Given the description of an element on the screen output the (x, y) to click on. 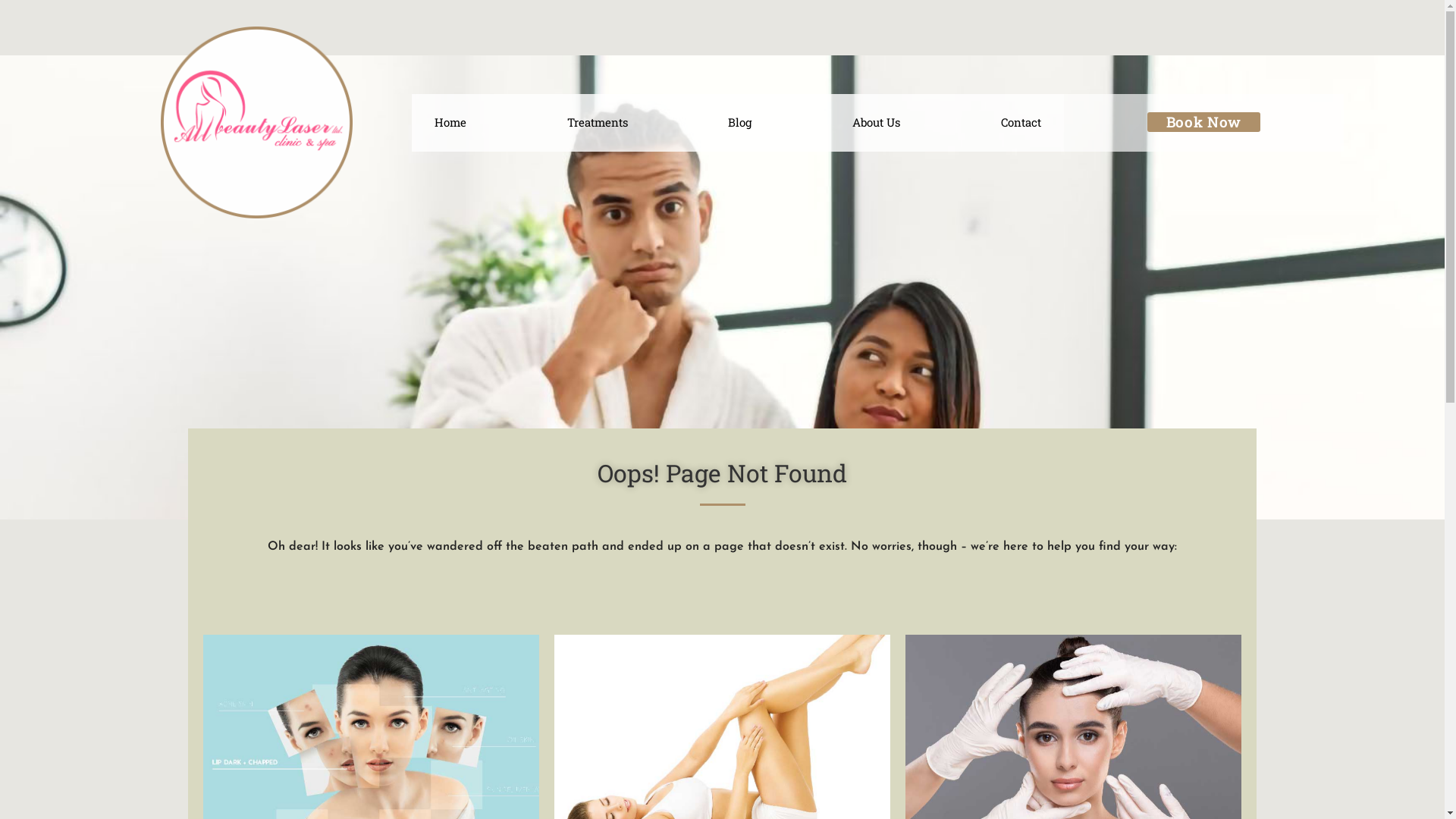
Blog Element type: text (739, 122)
About Us Element type: text (875, 122)
Treatments Element type: text (597, 122)
Contact Element type: text (1020, 122)
Book Now Element type: text (1204, 121)
Home Element type: text (450, 122)
